Given the description of an element on the screen output the (x, y) to click on. 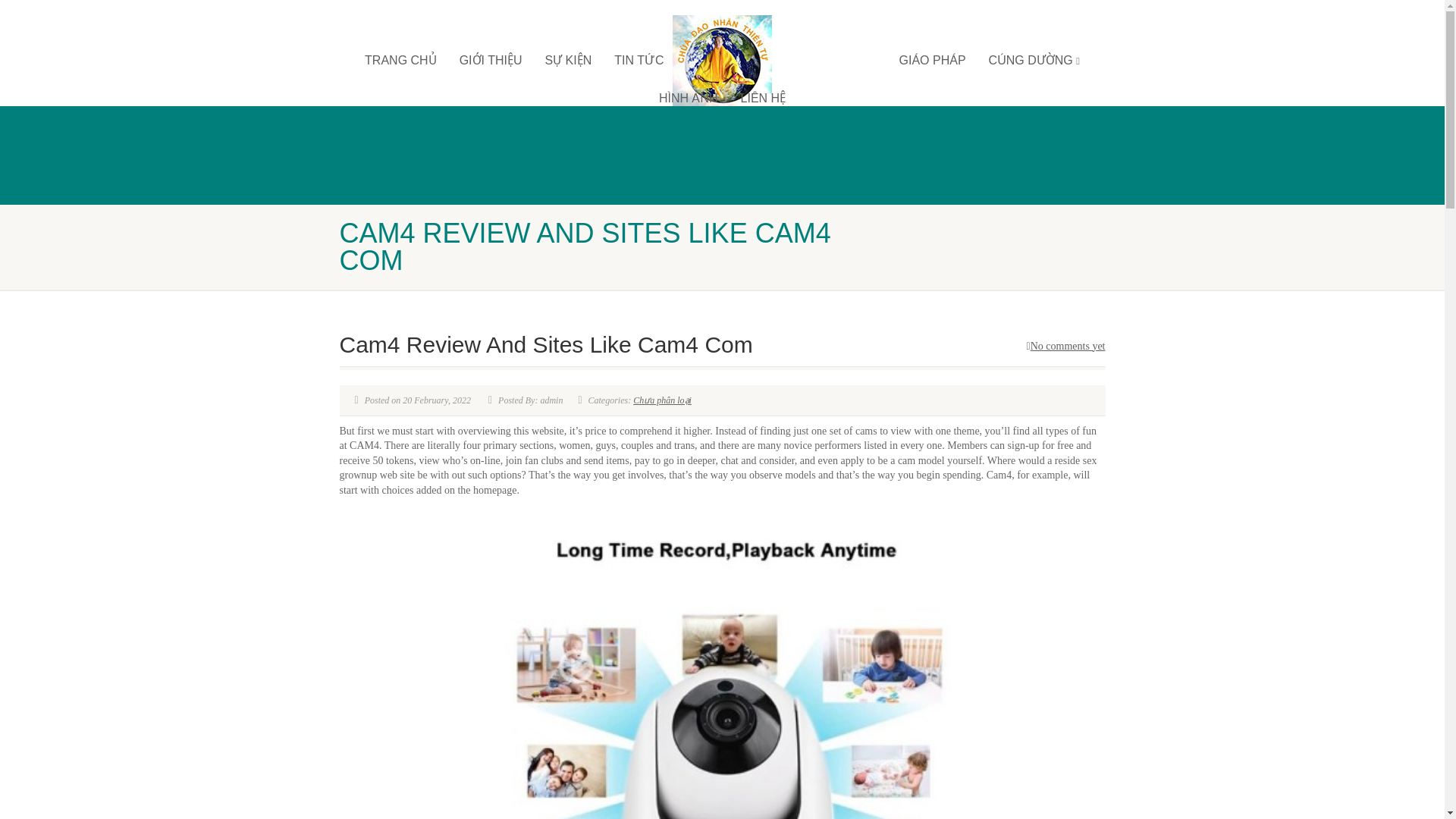
No comments yet (1065, 346)
Logo (721, 60)
